Given the description of an element on the screen output the (x, y) to click on. 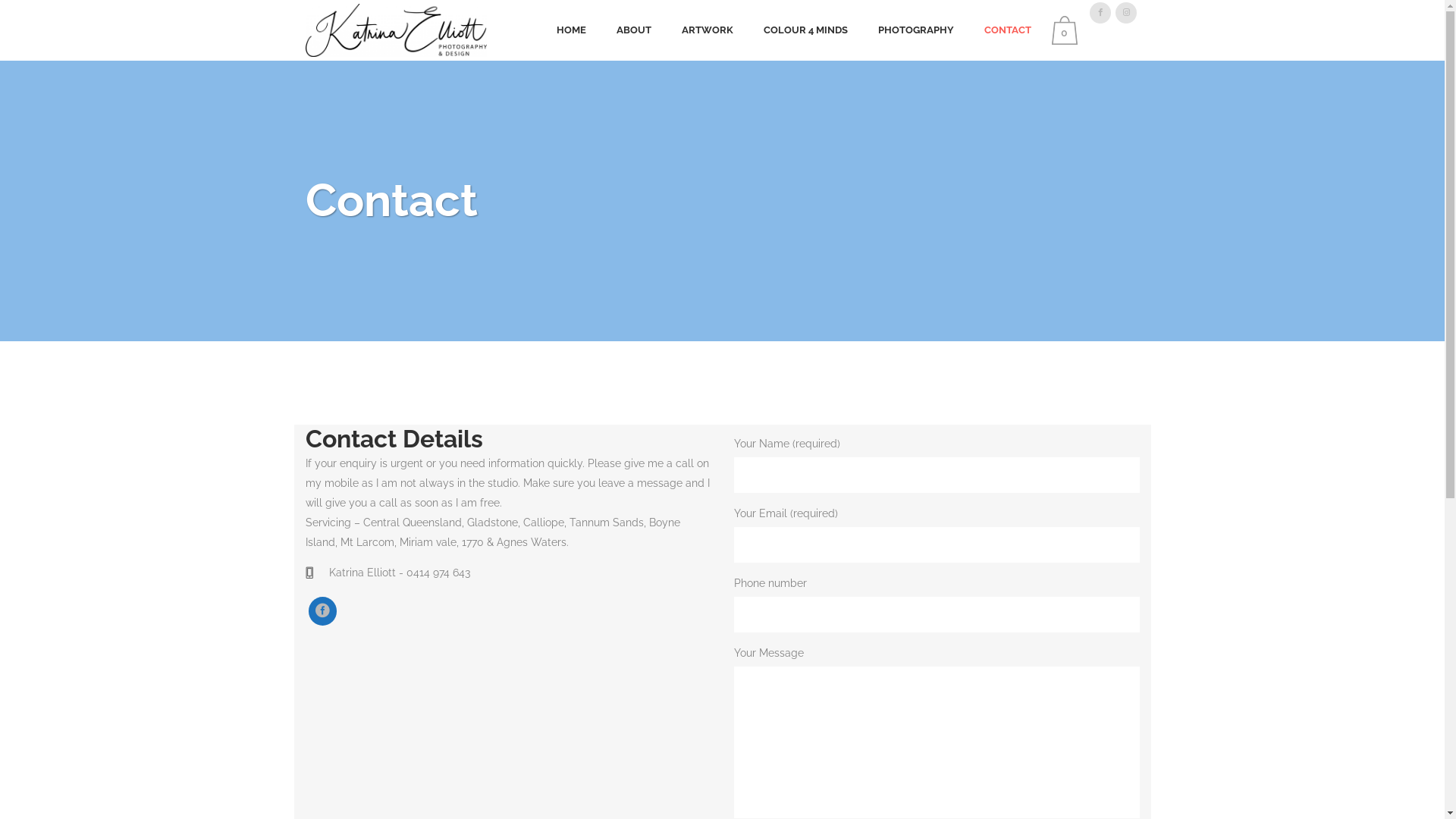
COLOUR 4 MINDS Element type: text (805, 30)
PHOTOGRAPHY Element type: text (915, 30)
ARTWORK Element type: text (707, 30)
0 Element type: text (1067, 29)
HOME Element type: text (571, 30)
CONTACT Element type: text (1007, 30)
ABOUT Element type: text (633, 30)
